Given the description of an element on the screen output the (x, y) to click on. 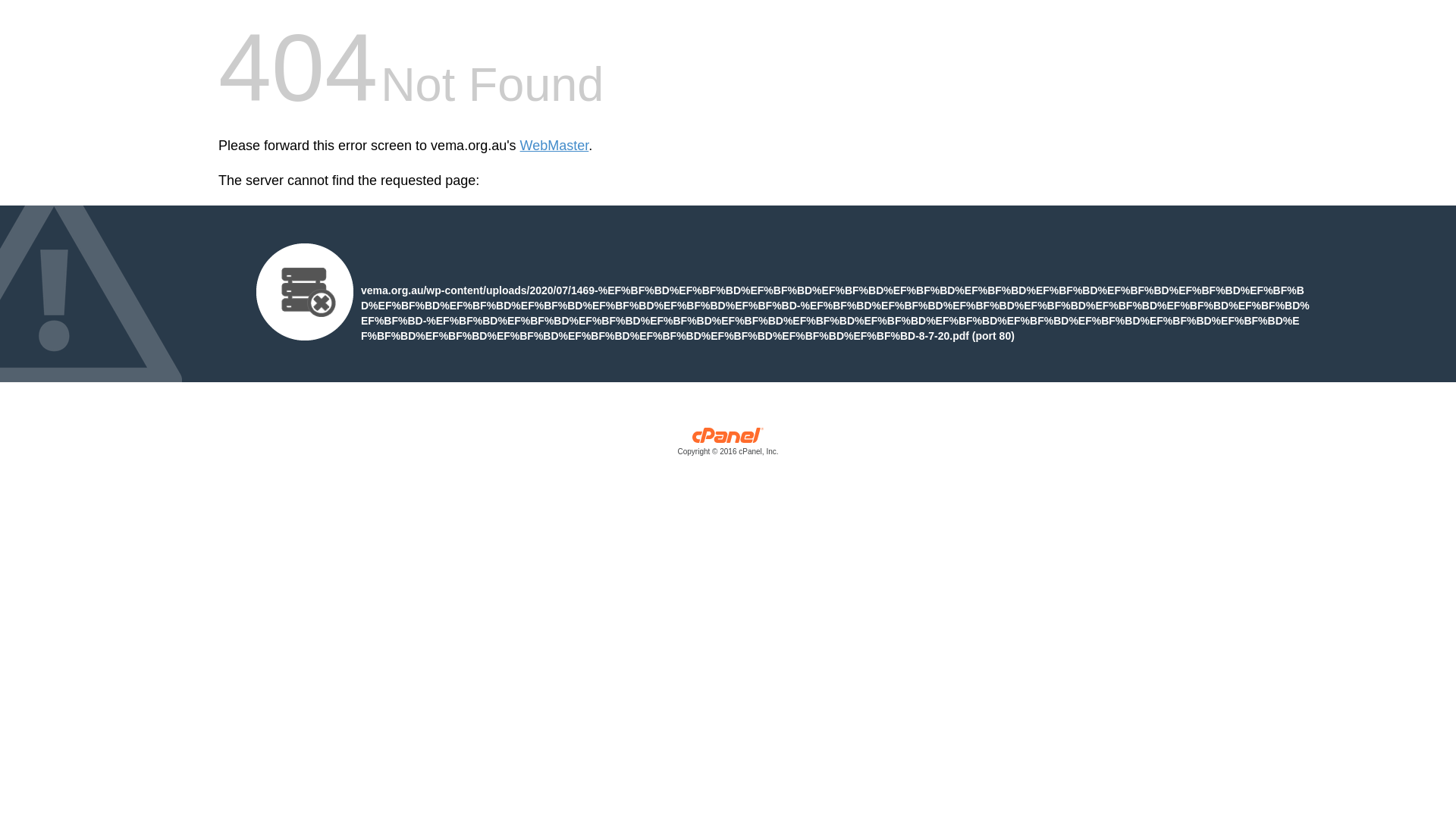
WebMaster Element type: text (554, 145)
